Given the description of an element on the screen output the (x, y) to click on. 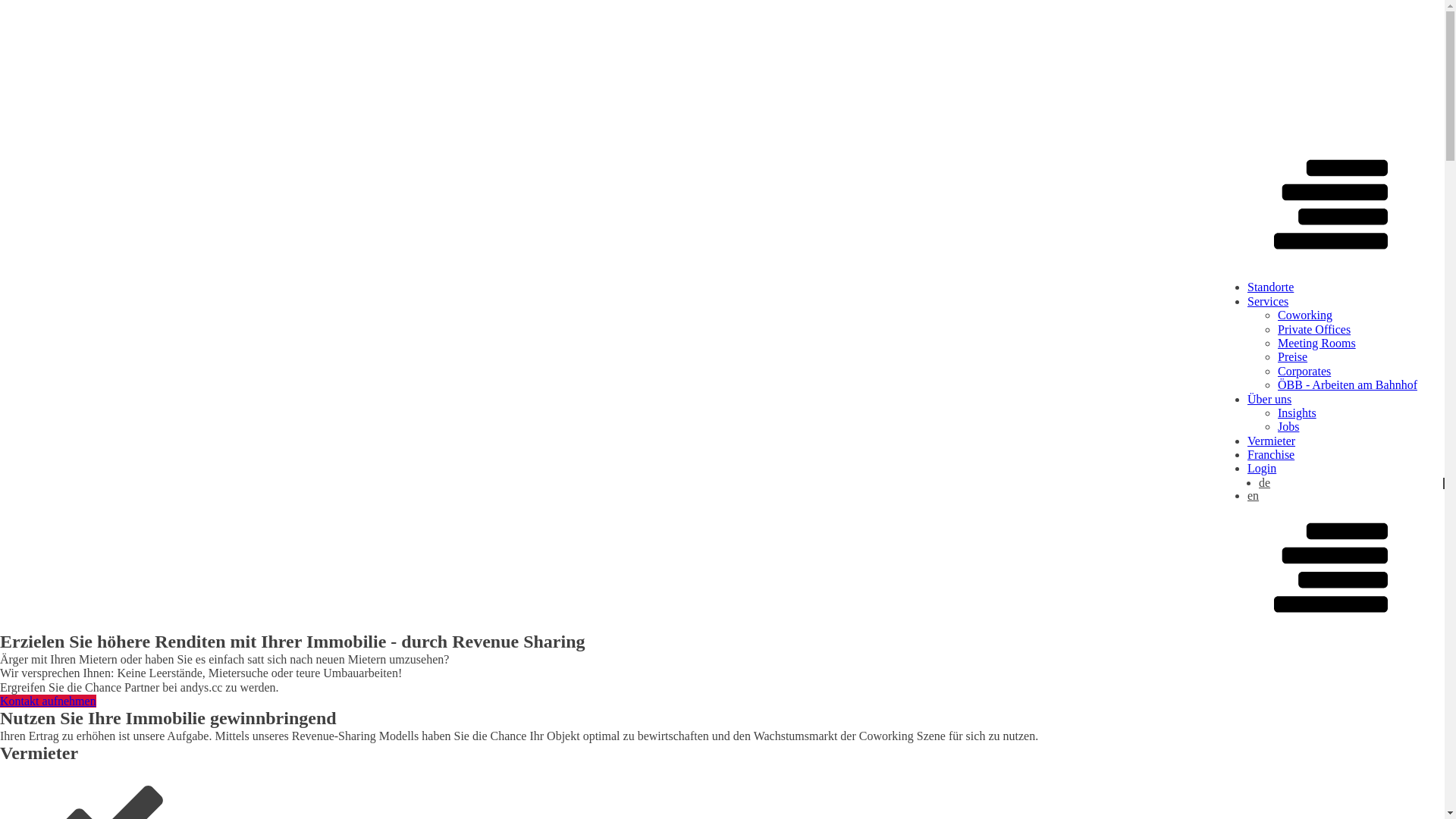
Franchise Element type: text (1270, 454)
Services Element type: text (1267, 300)
Login Element type: text (1261, 467)
Private Offices Element type: text (1313, 329)
Vermieter Element type: text (1271, 440)
Kontakt aufnehmen Element type: text (48, 700)
Jobs Element type: text (1288, 426)
Standorte Element type: text (1270, 286)
Meeting Rooms Element type: text (1316, 342)
Corporates Element type: text (1303, 370)
Insights Element type: text (1296, 412)
Preise Element type: text (1292, 356)
Coworking Element type: text (1304, 314)
de Element type: text (1351, 483)
en Element type: text (1345, 495)
